Given the description of an element on the screen output the (x, y) to click on. 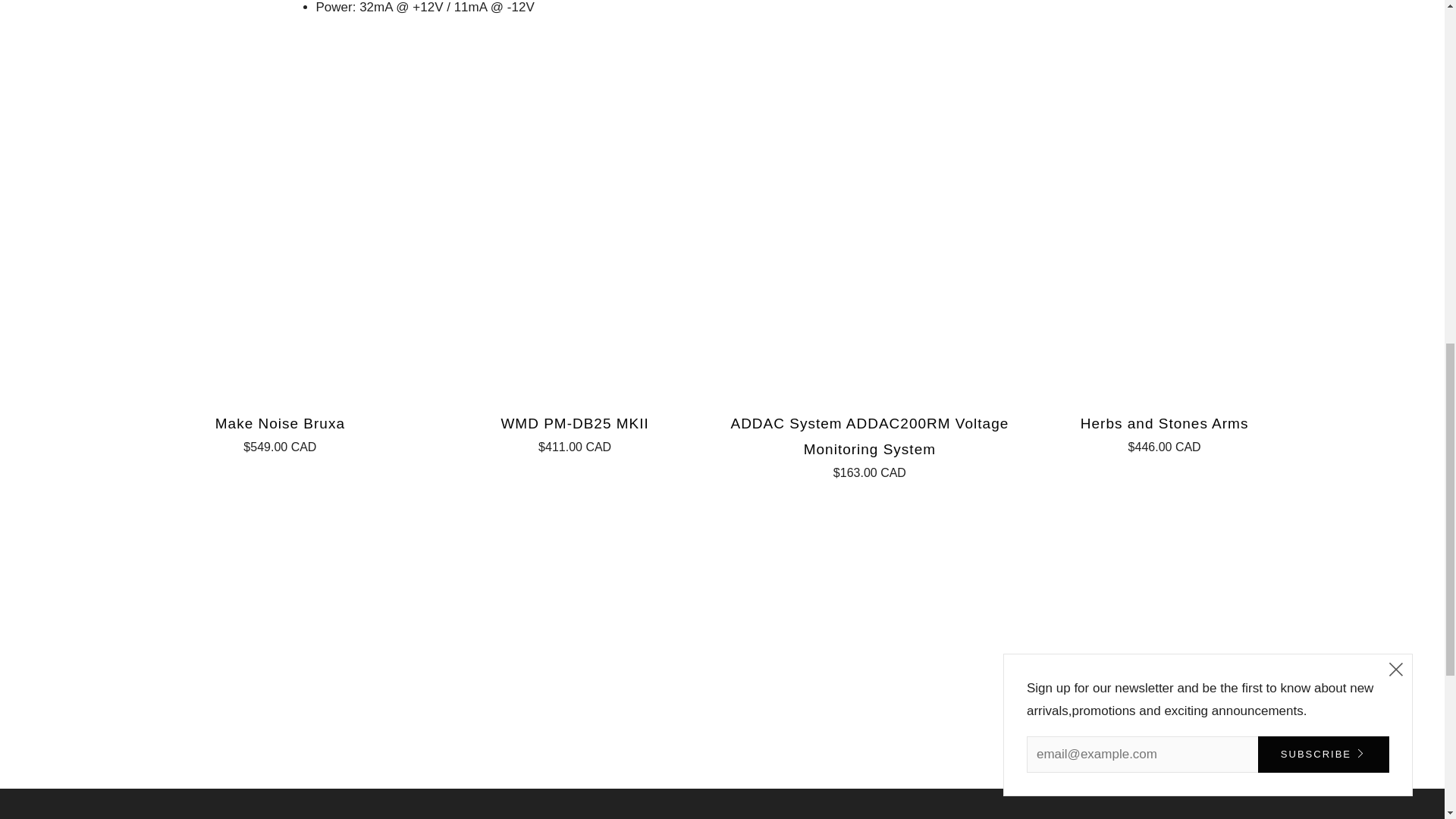
Herbs and Stones Arms (1164, 432)
Make Noise Bruxa (280, 432)
ADDAC System ADDAC200RM Voltage Monitoring System (869, 445)
WMD PM-DB25 MKII (574, 432)
